Given the description of an element on the screen output the (x, y) to click on. 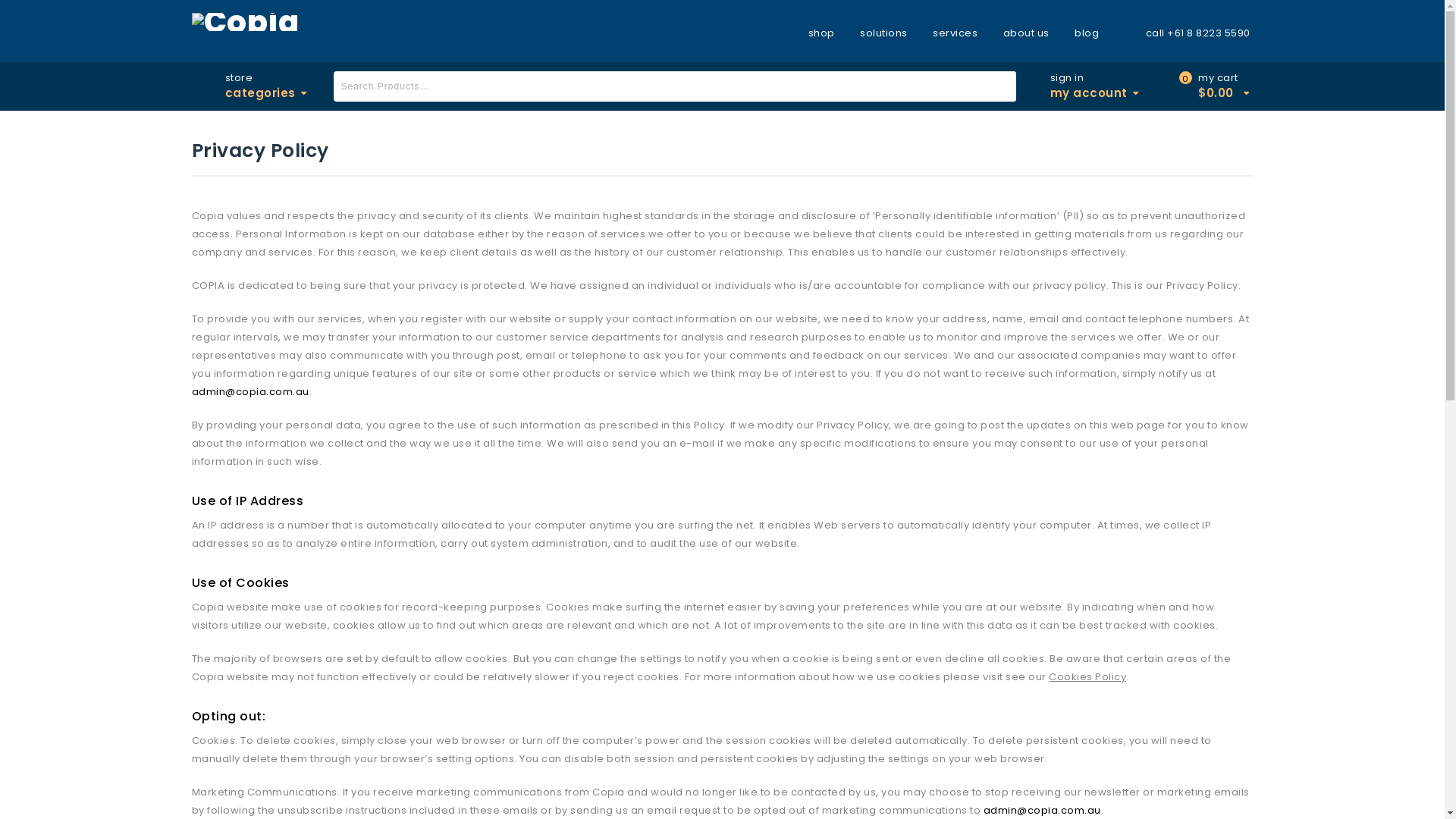
blog Element type: text (1086, 32)
Copia Element type: hover (244, 20)
Search for: Element type: hover (674, 86)
admin@copia.com.au Element type: text (249, 391)
solutions Element type: text (883, 32)
admin@copia.com.au Element type: text (1041, 810)
Search Element type: text (1000, 86)
services Element type: text (954, 32)
call +61 8 8223 5590 Element type: text (1187, 32)
0
my cart
$0.00 Element type: text (1218, 86)
shop Element type: text (827, 32)
about us Element type: text (1025, 32)
